Given the description of an element on the screen output the (x, y) to click on. 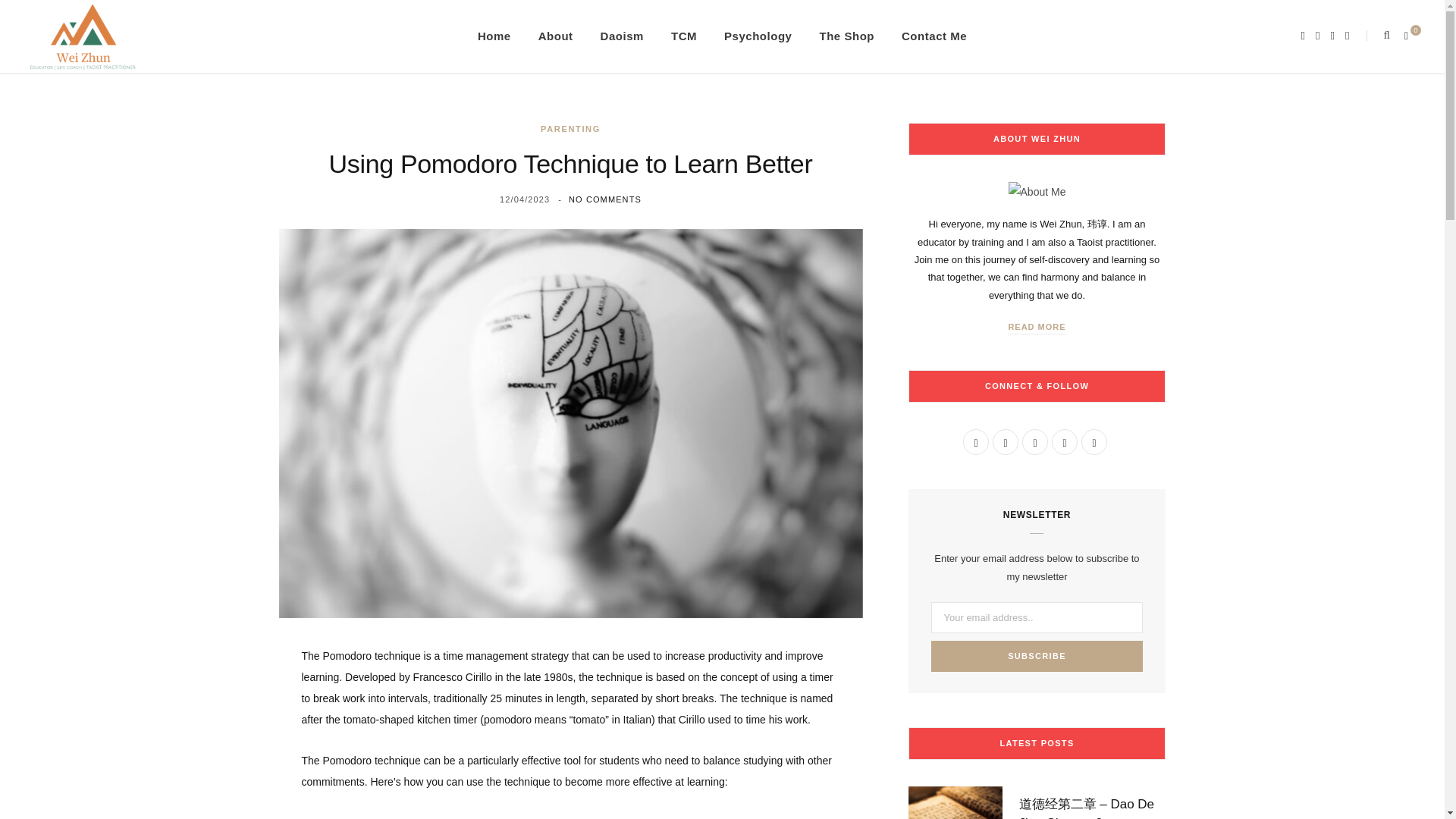
Daoism (622, 36)
Lee Wei Zhun (82, 36)
Contact Me (933, 36)
The Shop (846, 36)
Psychology (757, 36)
PARENTING (569, 128)
Subscribe (1036, 655)
NO COMMENTS (605, 198)
